Given the description of an element on the screen output the (x, y) to click on. 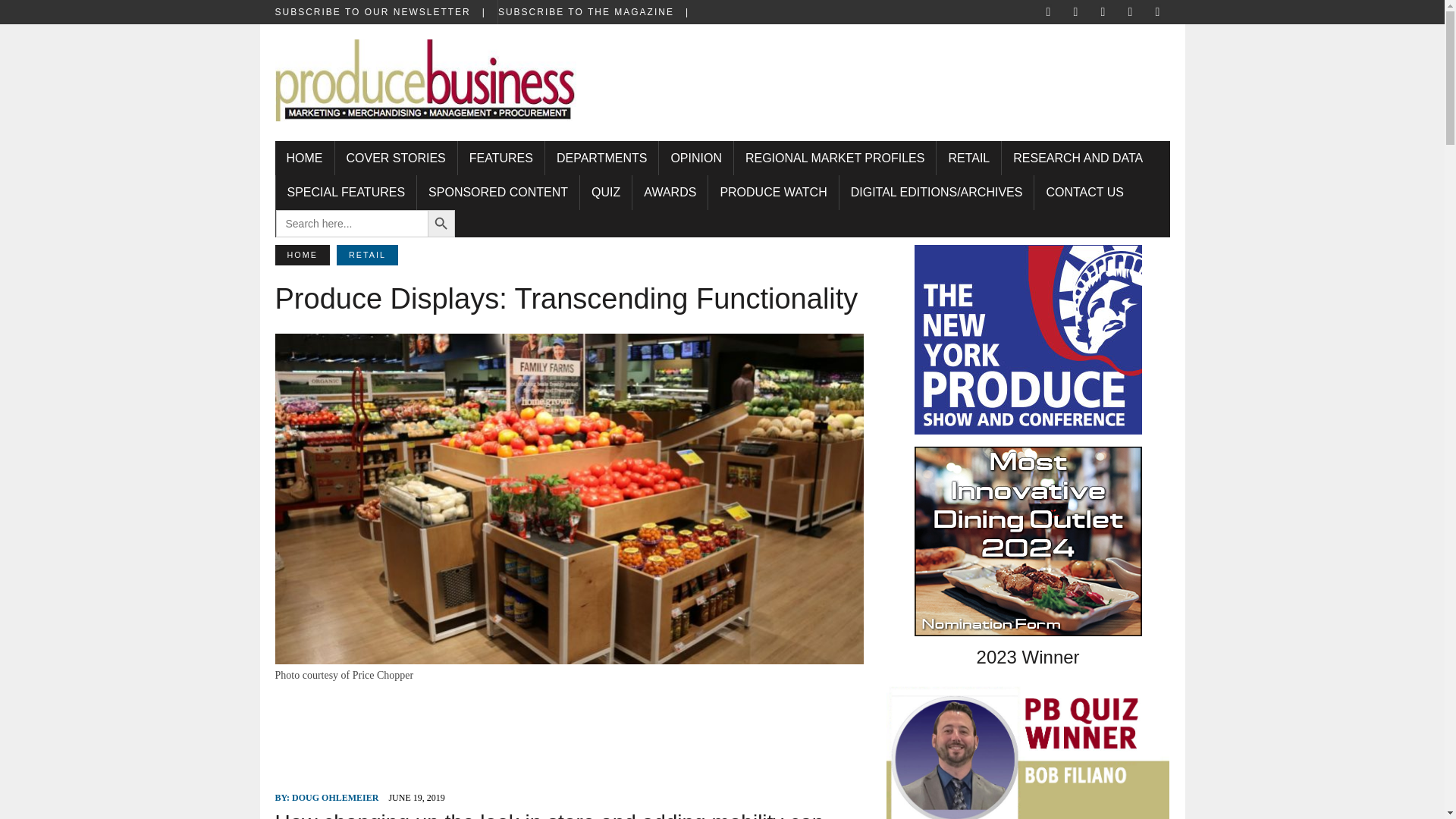
3rd party ad content (569, 732)
Produce Business (425, 89)
3rd party ad content (890, 73)
SUBSCRIBE TO THE MAGAZINE (598, 12)
SUBSCRIBE TO OUR NEWSLETTER (385, 12)
